Given the description of an element on the screen output the (x, y) to click on. 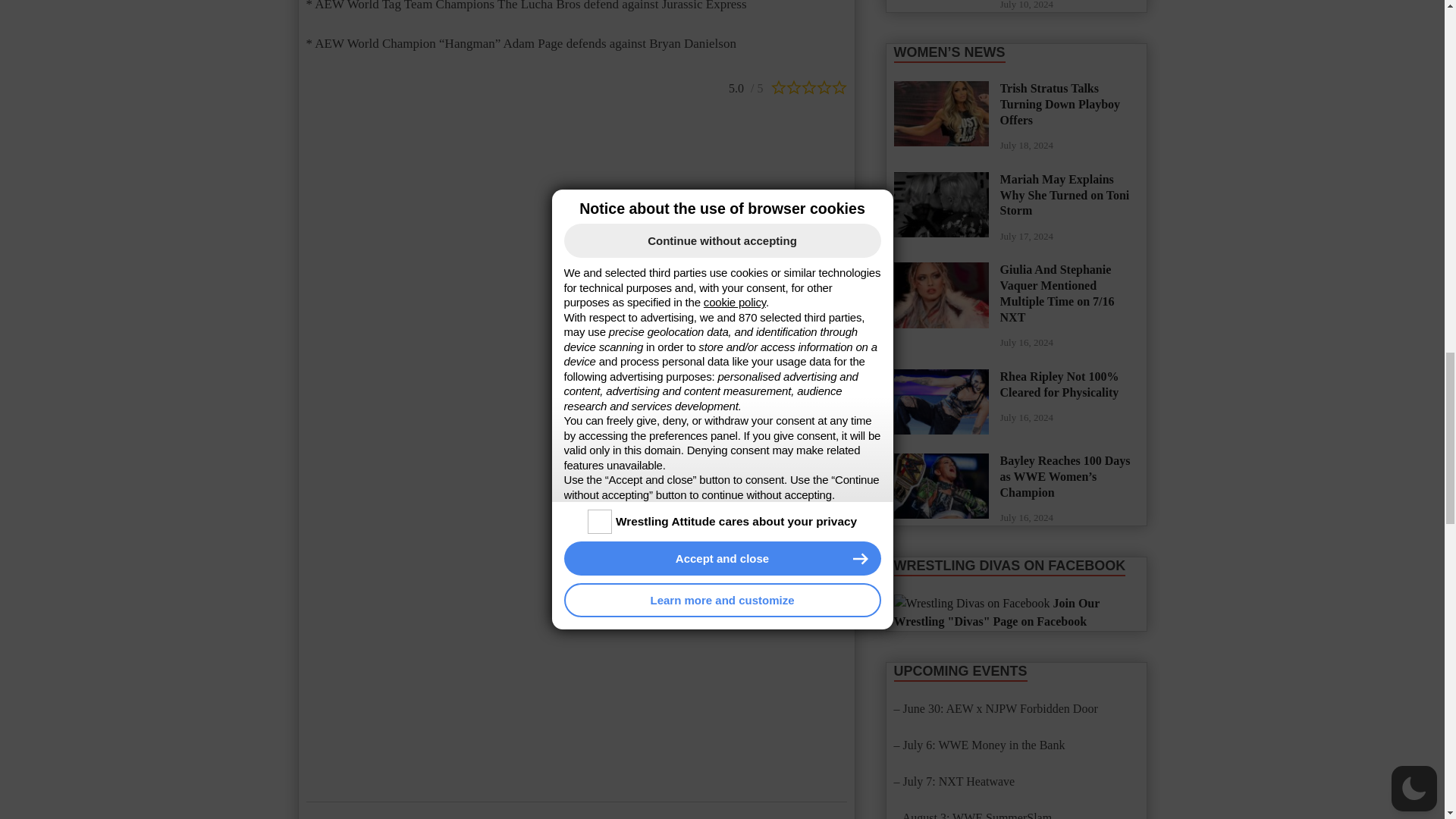
3 votes (747, 85)
